Given the description of an element on the screen output the (x, y) to click on. 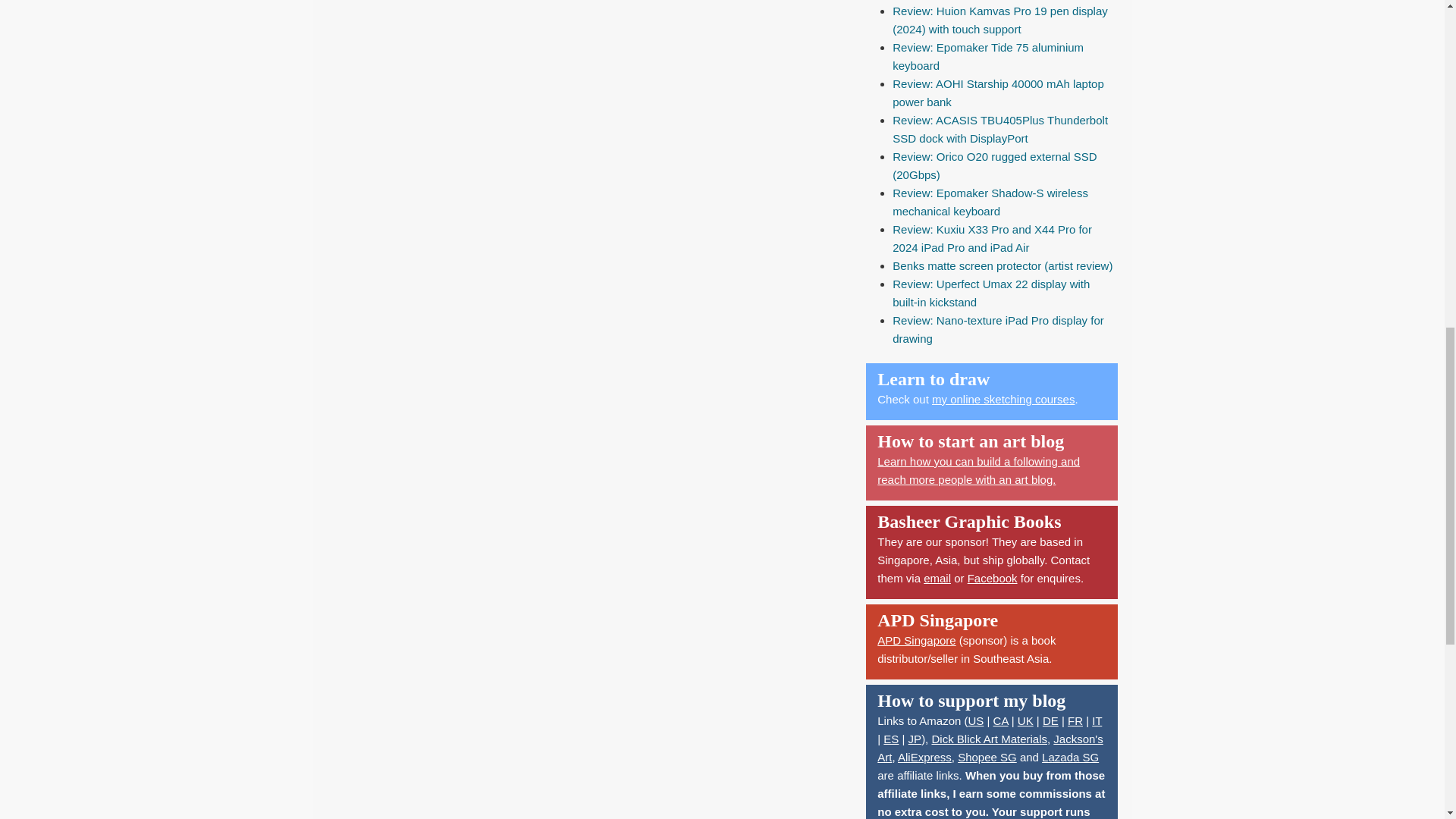
Review: Epomaker Shadow-S wireless mechanical keyboard (989, 202)
Review: Epomaker Tide 75 aluminium keyboard (987, 56)
Review: AOHI Starship 40000 mAh laptop power bank (997, 92)
